Given the description of an element on the screen output the (x, y) to click on. 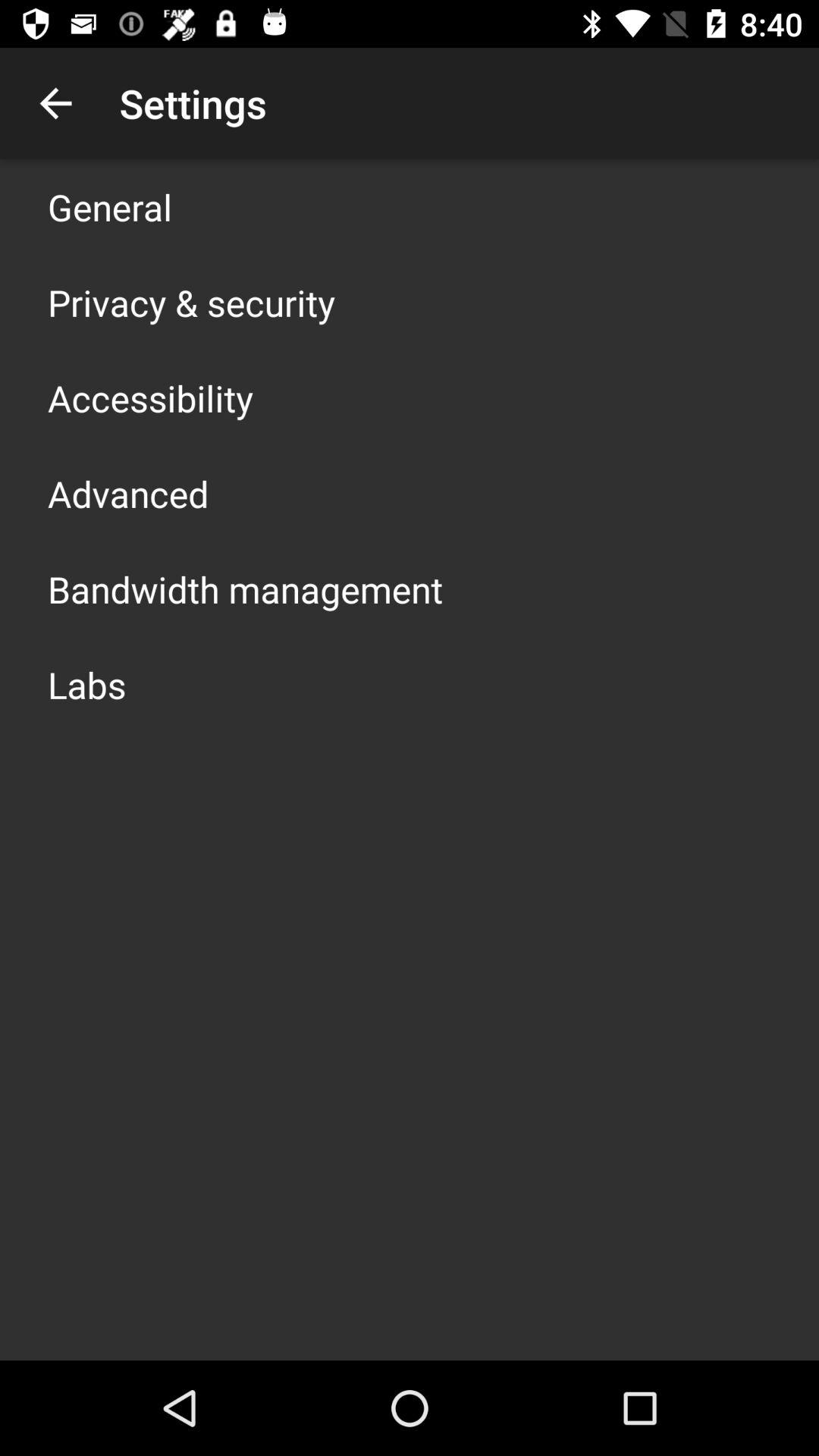
jump until general app (109, 206)
